Given the description of an element on the screen output the (x, y) to click on. 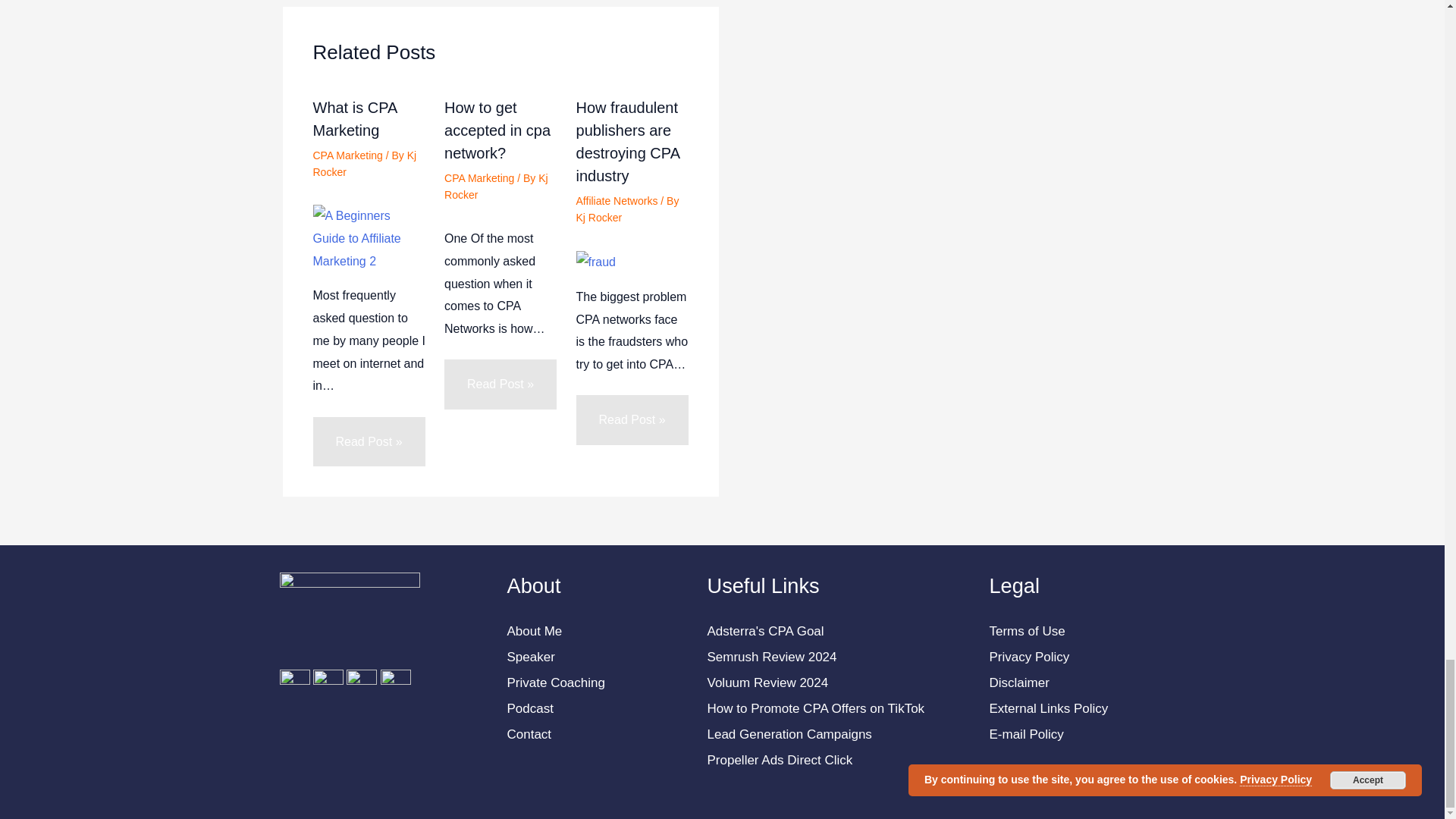
View all posts by Kj Rocker (599, 217)
View all posts by Kj Rocker (364, 163)
View all posts by Kj Rocker (496, 185)
